Given the description of an element on the screen output the (x, y) to click on. 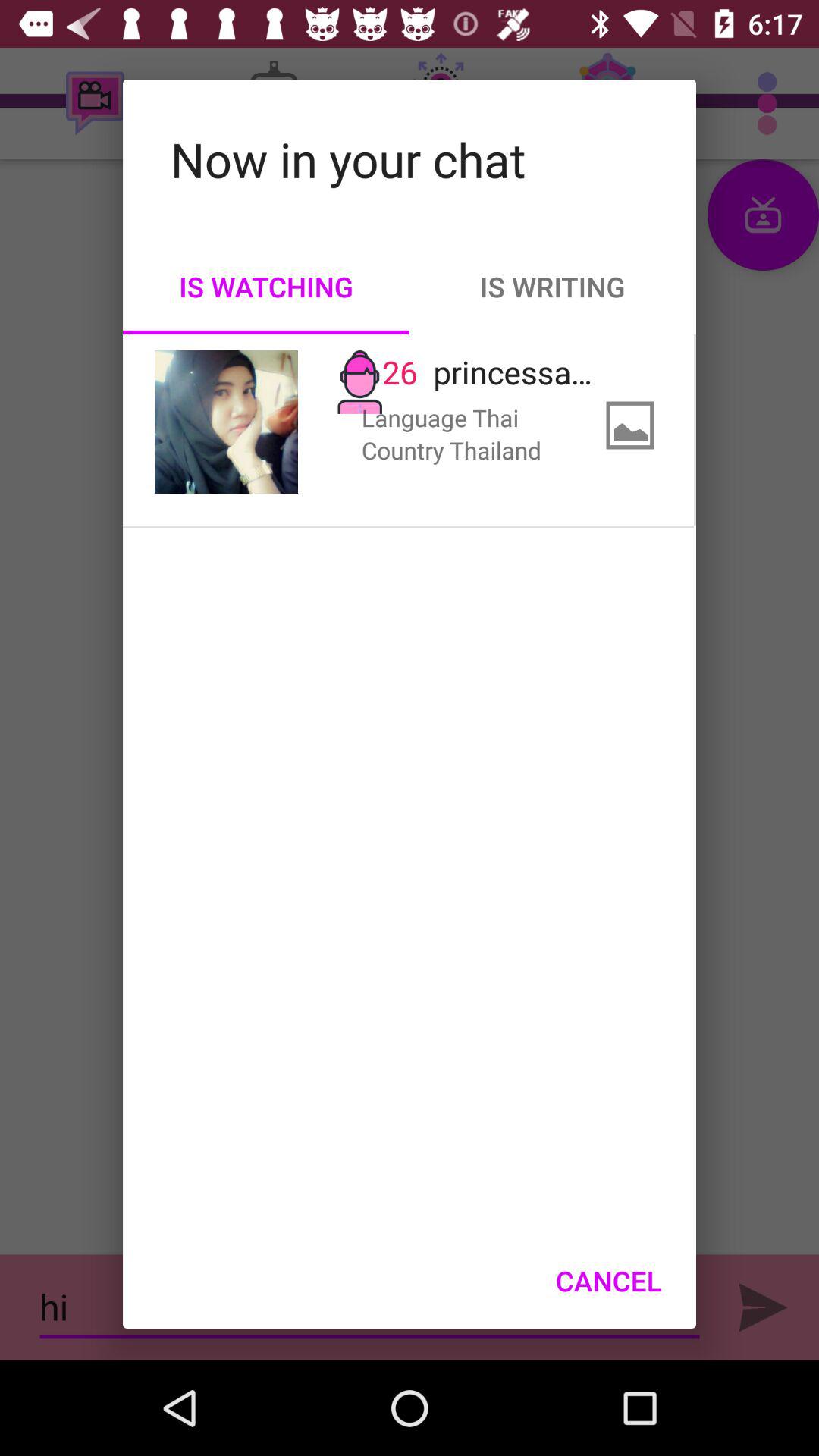
select the icon below country thailand item (608, 1280)
